Given the description of an element on the screen output the (x, y) to click on. 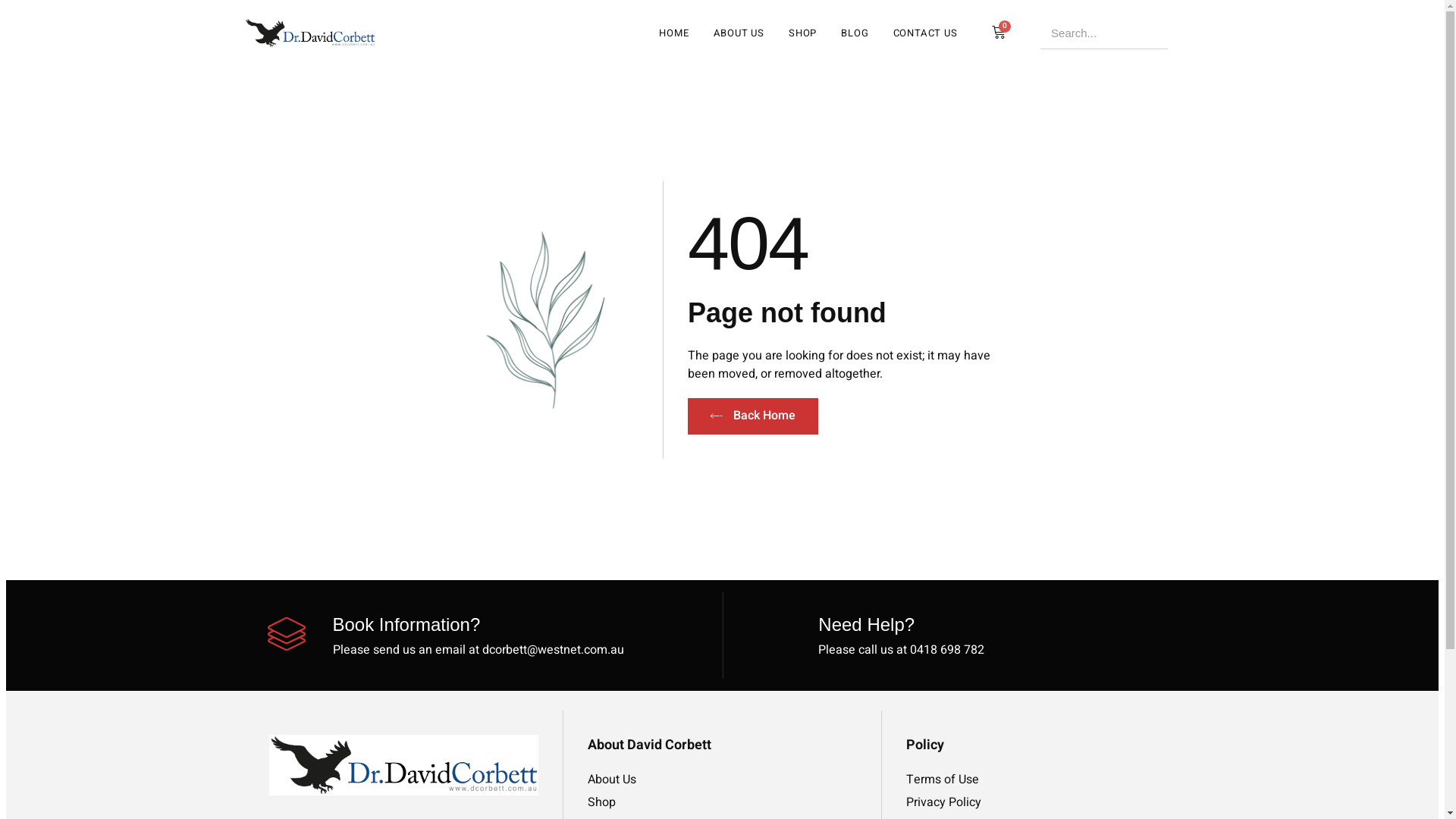
Dr_David_Corbett Element type: hover (309, 32)
About Us Element type: text (721, 779)
Privacy Policy Element type: text (1040, 802)
HOME Element type: text (673, 32)
Shop Element type: text (721, 802)
Terms of Use Element type: text (1040, 779)
BLOG Element type: text (854, 32)
0 Element type: text (998, 32)
SHOP Element type: text (802, 32)
CONTACT US Element type: text (925, 32)
Back Home Element type: text (752, 416)
ABOUT US Element type: text (738, 32)
